Given the description of an element on the screen output the (x, y) to click on. 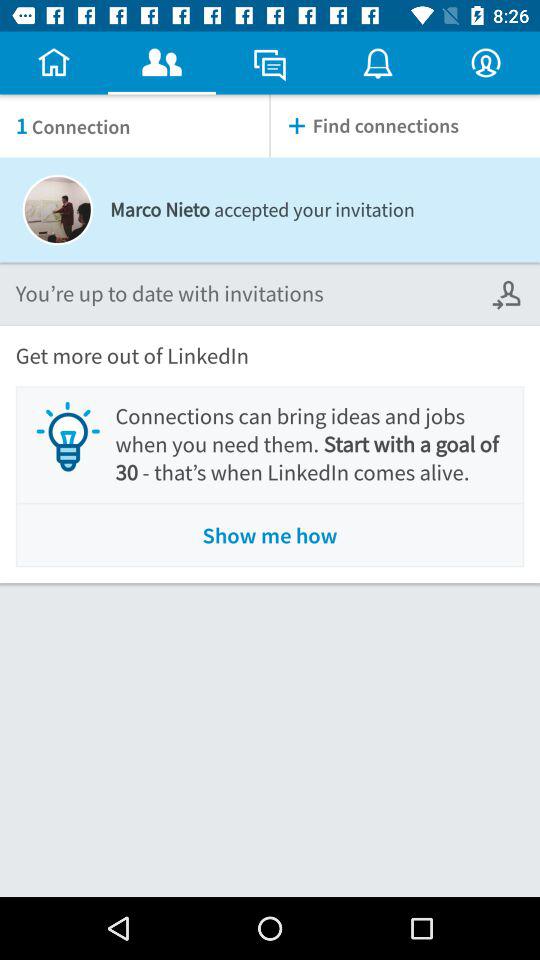
select icon above marco nieto accepted (405, 125)
